Given the description of an element on the screen output the (x, y) to click on. 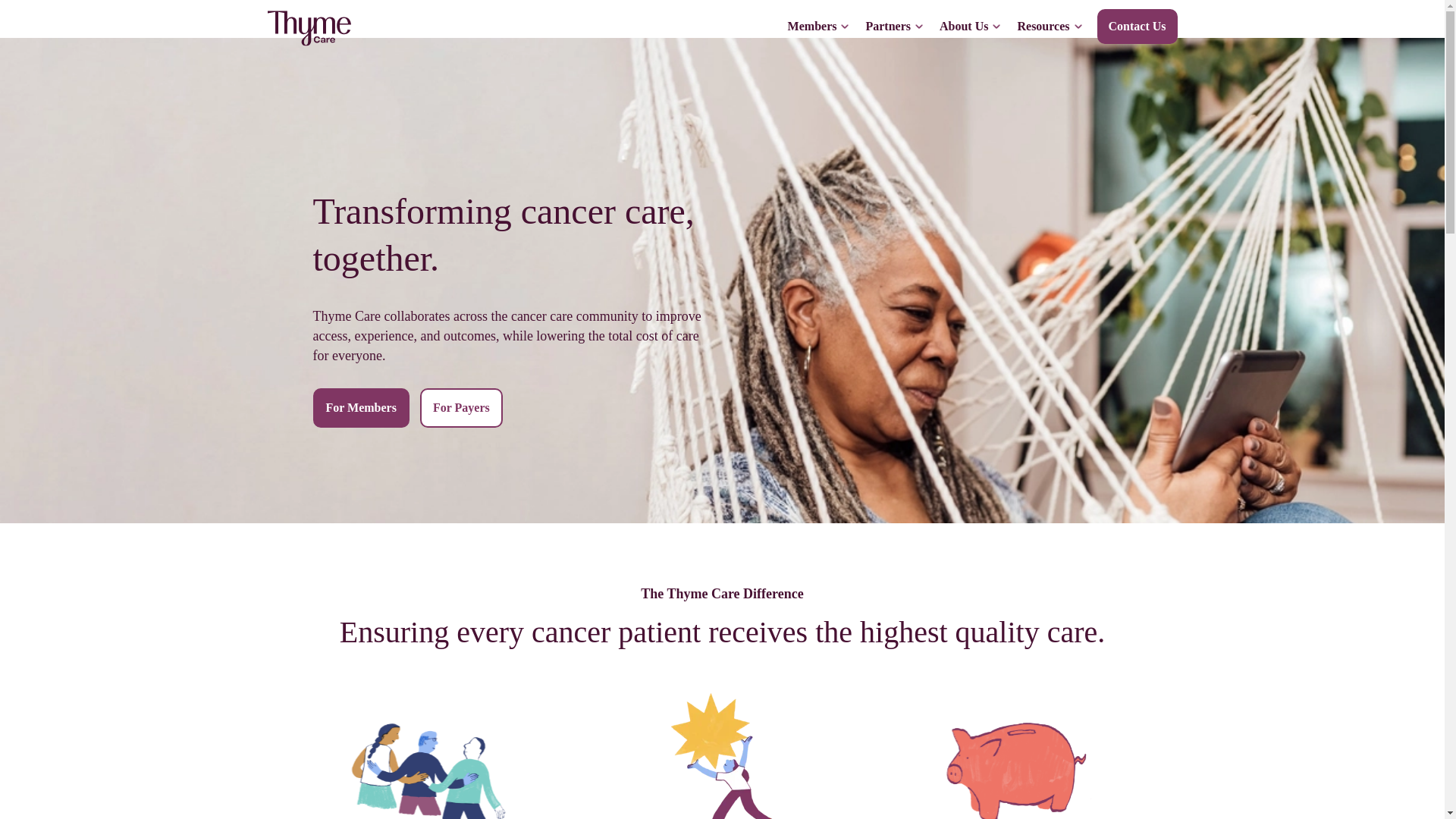
For Payers (461, 407)
Members (817, 26)
About Us (968, 26)
Contact Us (1136, 26)
For Members (361, 407)
Partners (893, 26)
Resources (1047, 26)
